Given the description of an element on the screen output the (x, y) to click on. 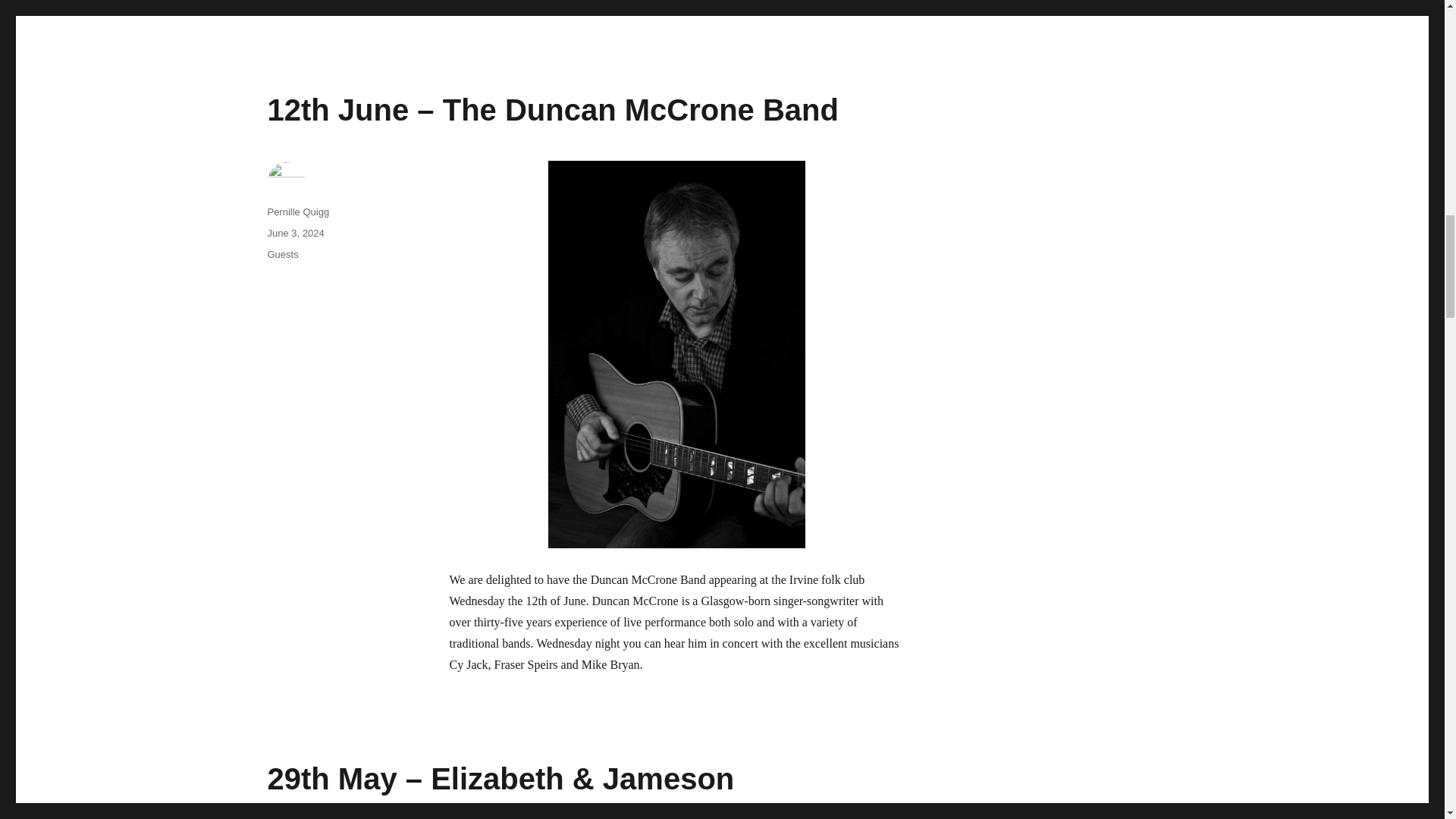
June 3, 2024 (294, 233)
Guests (282, 254)
Pernille Quigg (297, 211)
